Given the description of an element on the screen output the (x, y) to click on. 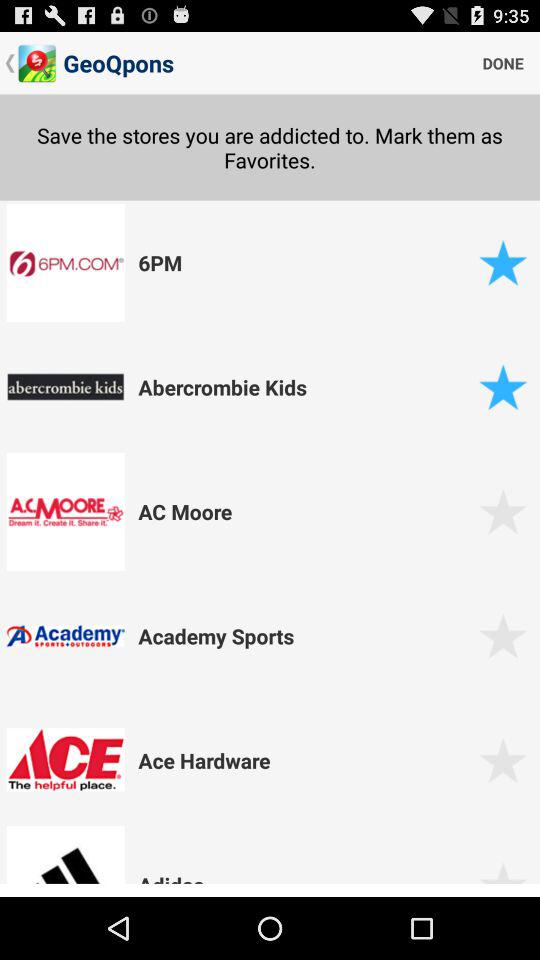
swipe to the ac moore app (305, 511)
